Given the description of an element on the screen output the (x, y) to click on. 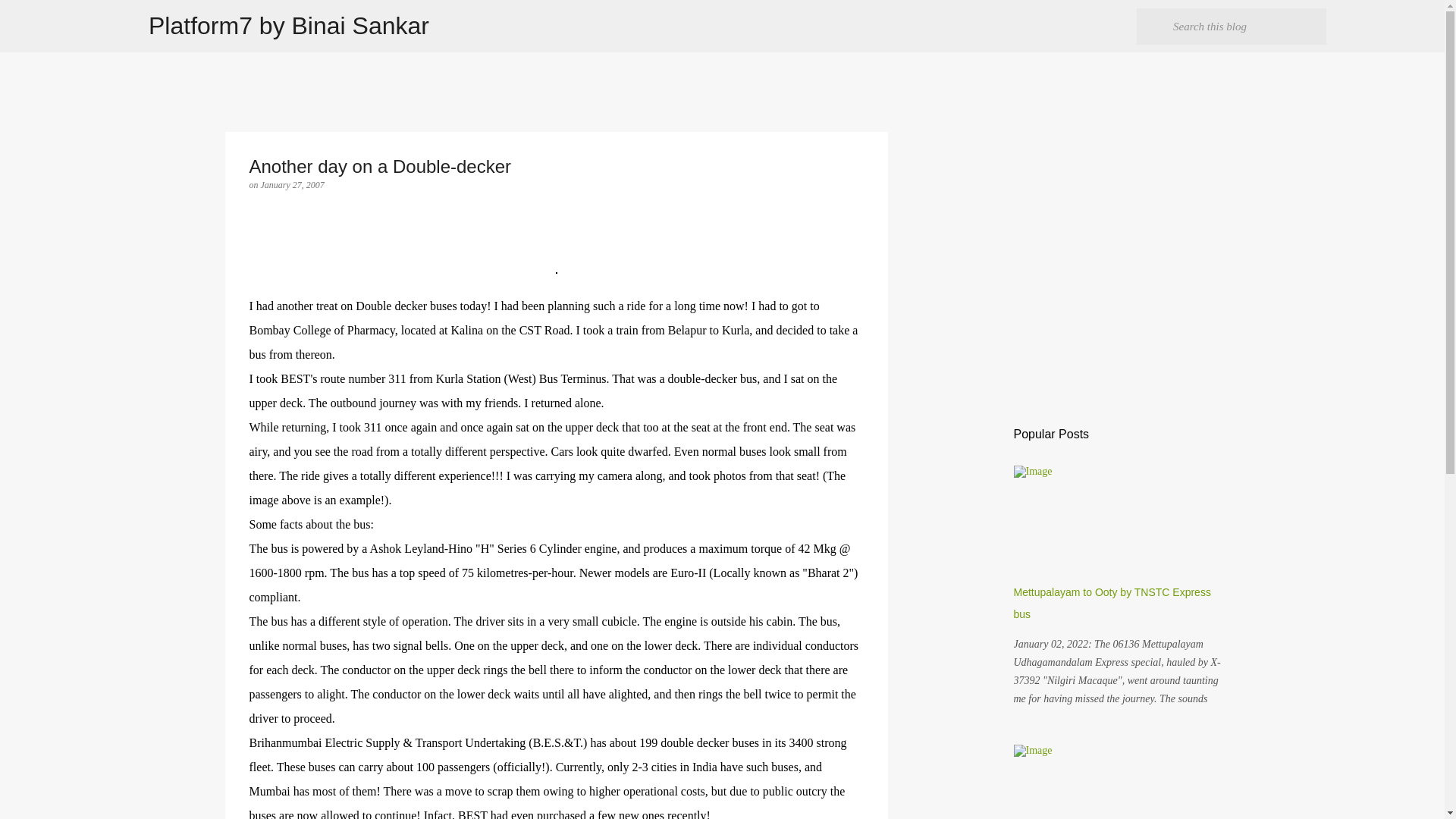
Platform7 by Binai Sankar (288, 25)
permanent link (292, 184)
January 27, 2007 (292, 184)
Mettupalayam to Ooty by TNSTC Express bus (1111, 602)
